Given the description of an element on the screen output the (x, y) to click on. 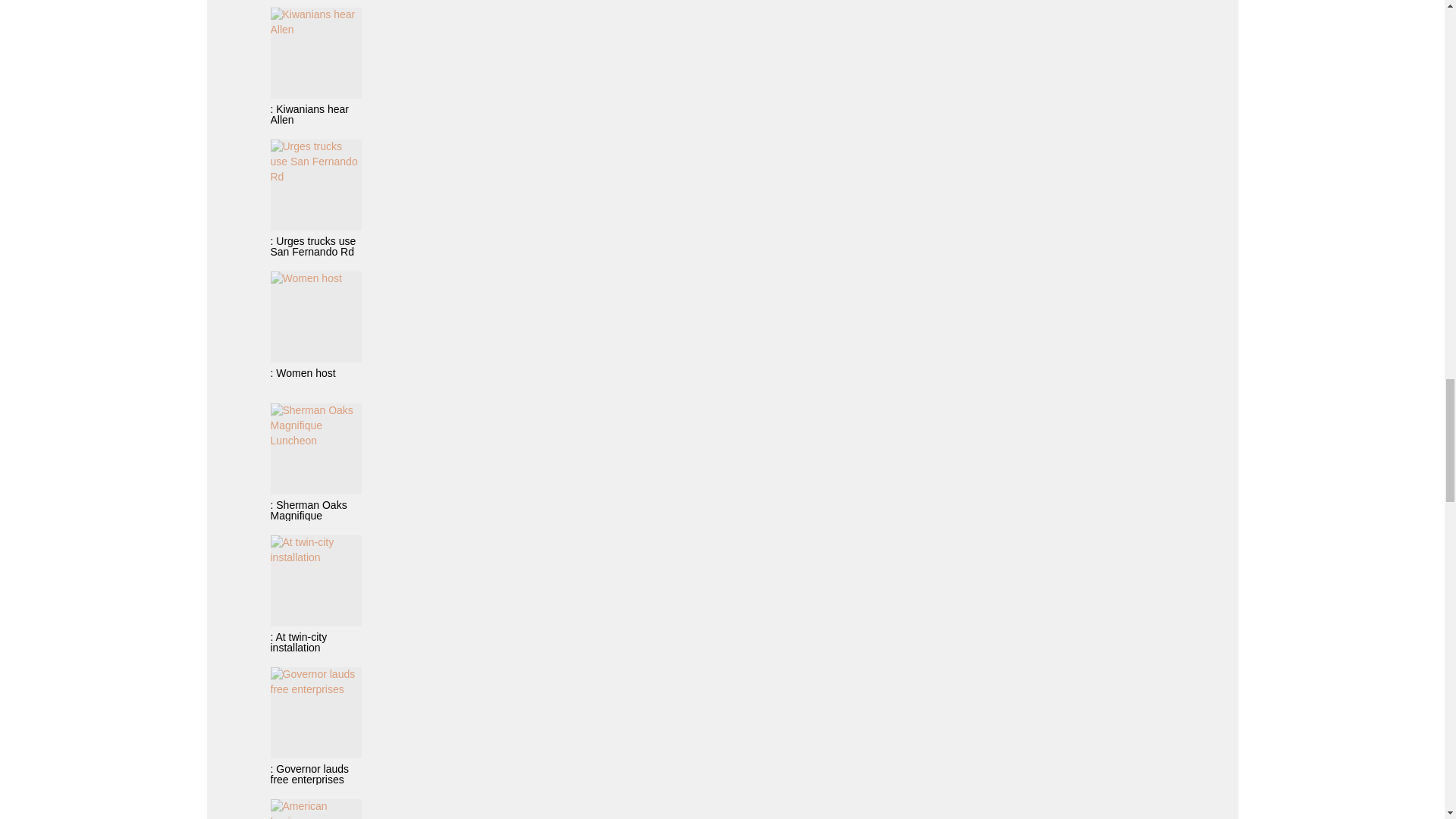
: Kiwanians hear Allen (315, 66)
: Urges trucks use San Fernando Rd (315, 198)
: At twin-city installation (315, 593)
: Sherman Oaks Magnifique Luncheon (315, 461)
: Women host (315, 330)
